Given the description of an element on the screen output the (x, y) to click on. 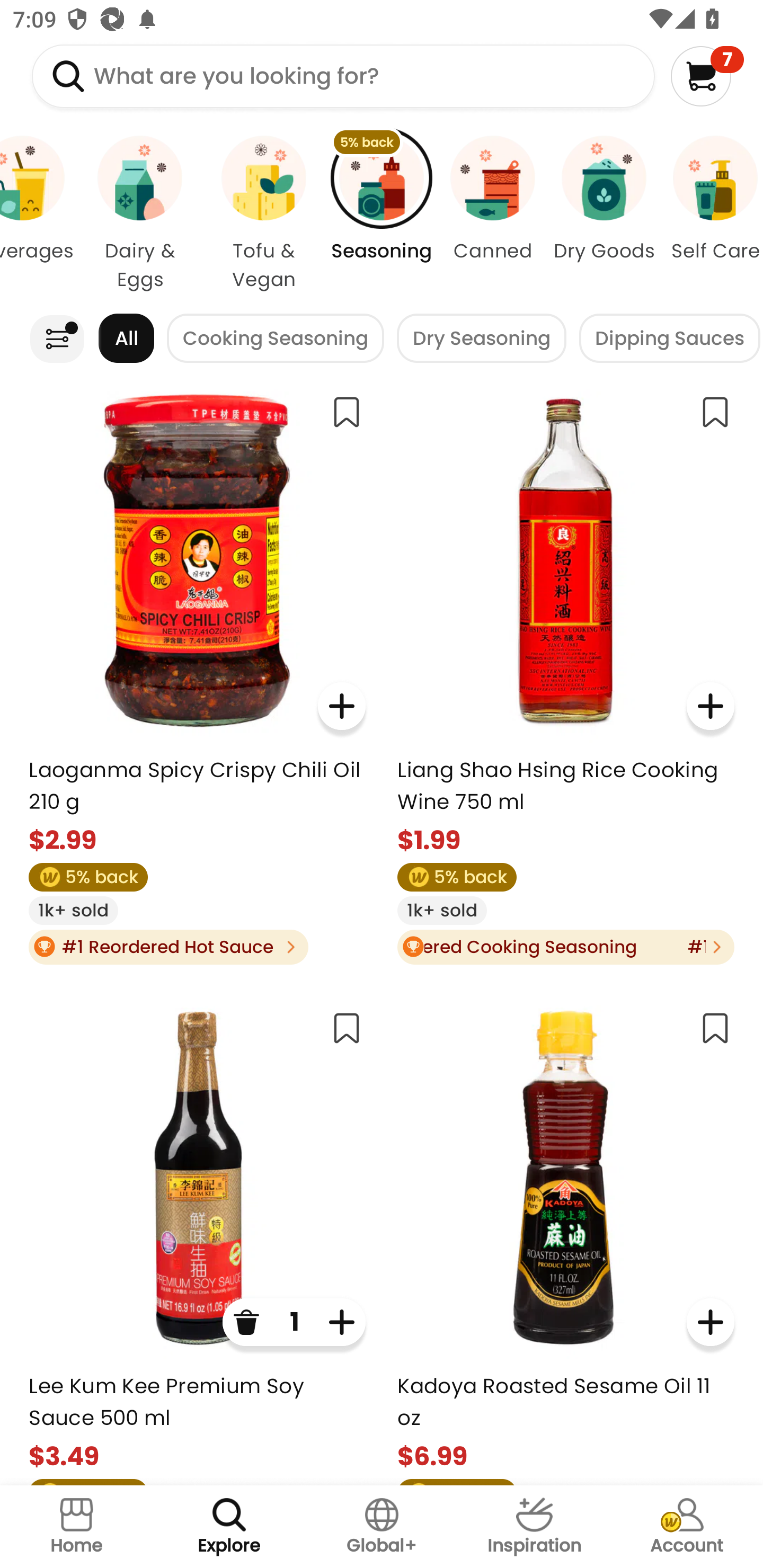
What are you looking for? (343, 75)
7 (706, 75)
Beverages (38, 214)
Dairy & Eggs (139, 214)
Tofu & Vegan (263, 214)
5% back Seasoning (381, 214)
Canned (492, 214)
Dry Goods (603, 214)
Self Care (711, 214)
All (126, 337)
Cooking Seasoning (275, 337)
Dry Seasoning (481, 337)
Dipping Sauces (669, 337)
Kadoya Roasted Sesame Oil 11 oz $6.99 5% back (565, 1239)
Home (76, 1526)
Explore (228, 1526)
Global+ (381, 1526)
Inspiration (533, 1526)
Account (686, 1526)
